Given the description of an element on the screen output the (x, y) to click on. 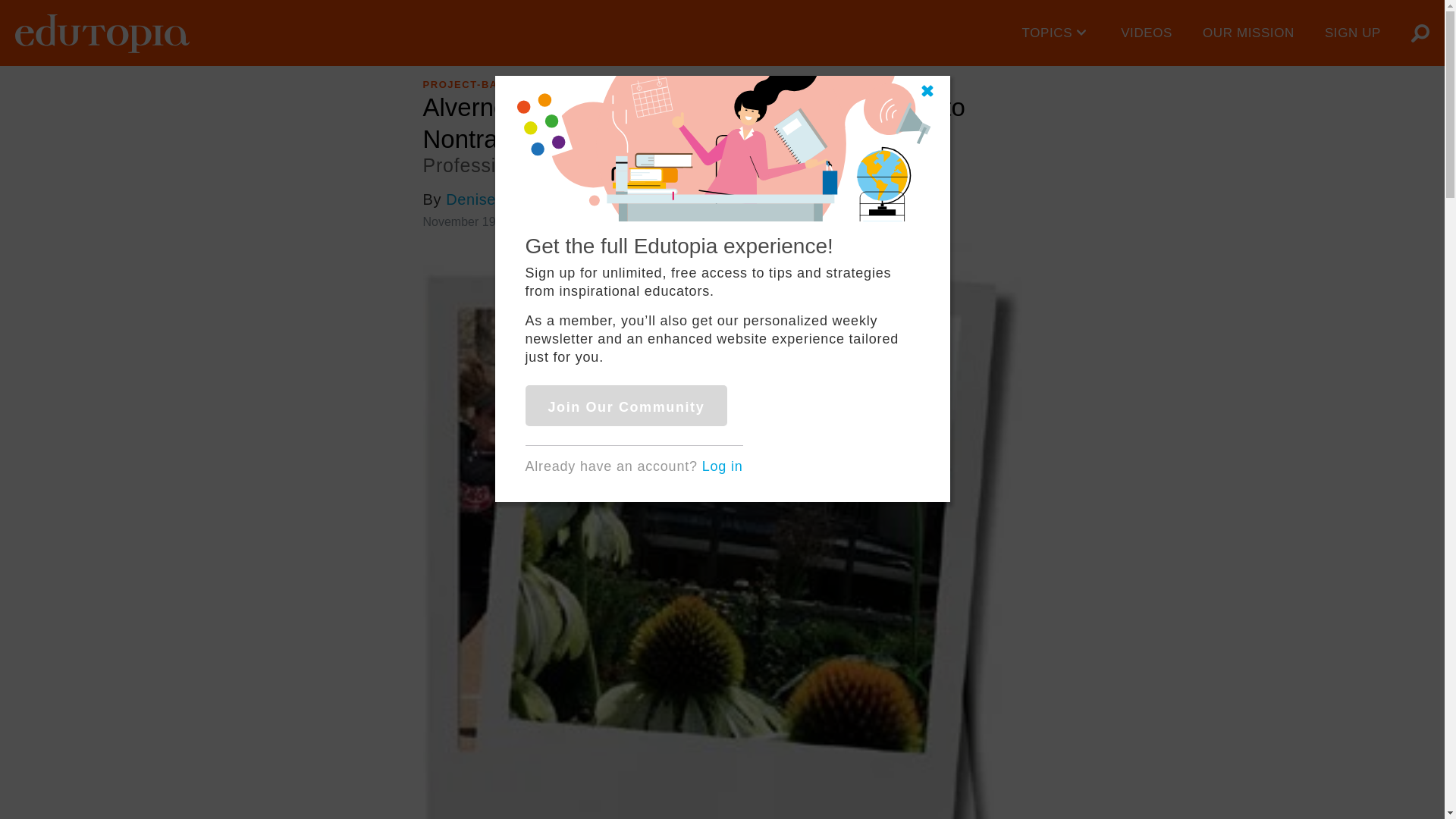
Denise Kersten Wills (520, 199)
OUR MISSION (1248, 33)
VIDEOS (1146, 33)
Edutopia (101, 33)
TOPICS (1056, 33)
Edutopia (101, 33)
SIGN UP (1352, 33)
